Given the description of an element on the screen output the (x, y) to click on. 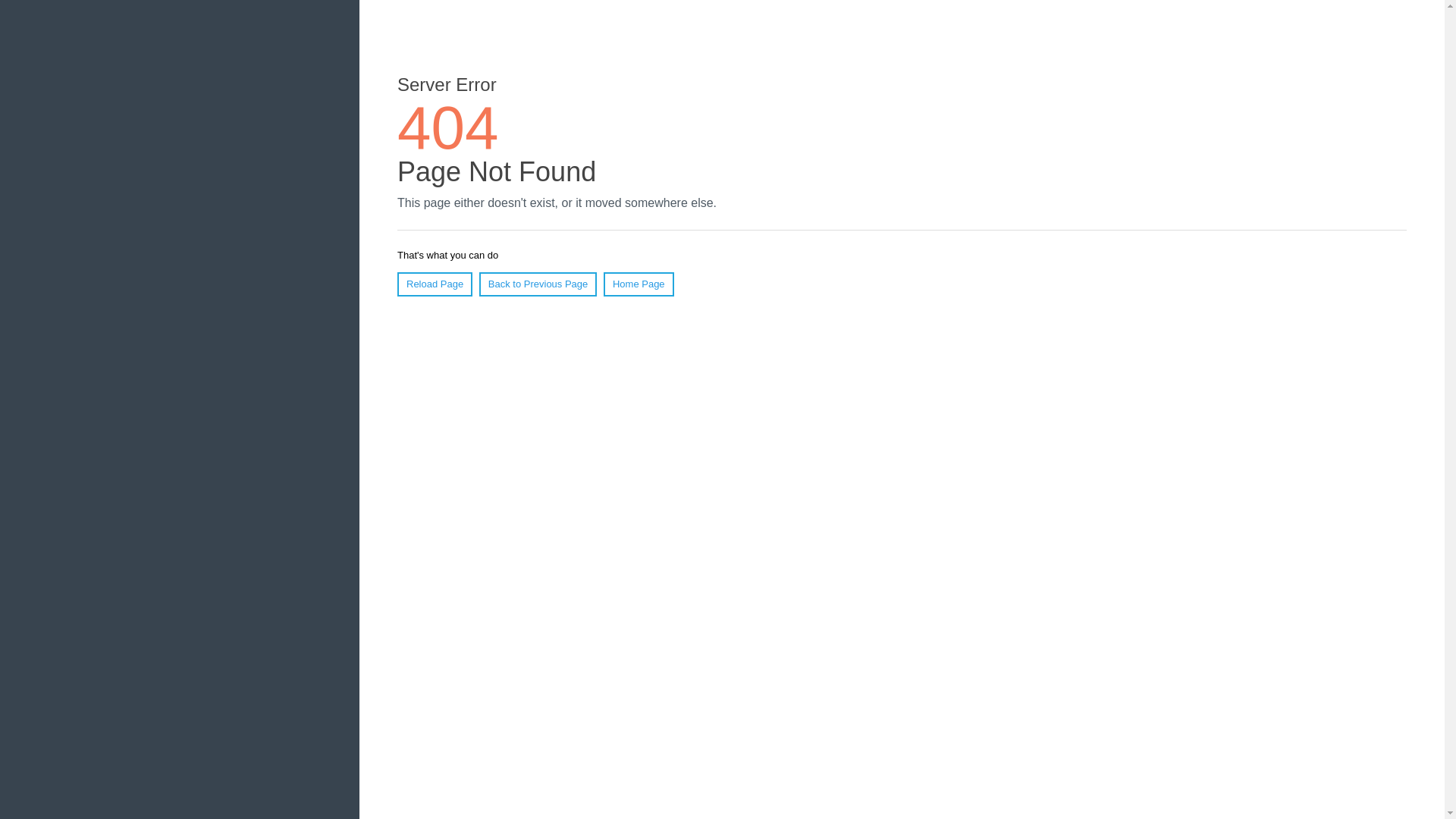
Reload Page Element type: text (434, 284)
Home Page Element type: text (638, 284)
Back to Previous Page Element type: text (538, 284)
